Given the description of an element on the screen output the (x, y) to click on. 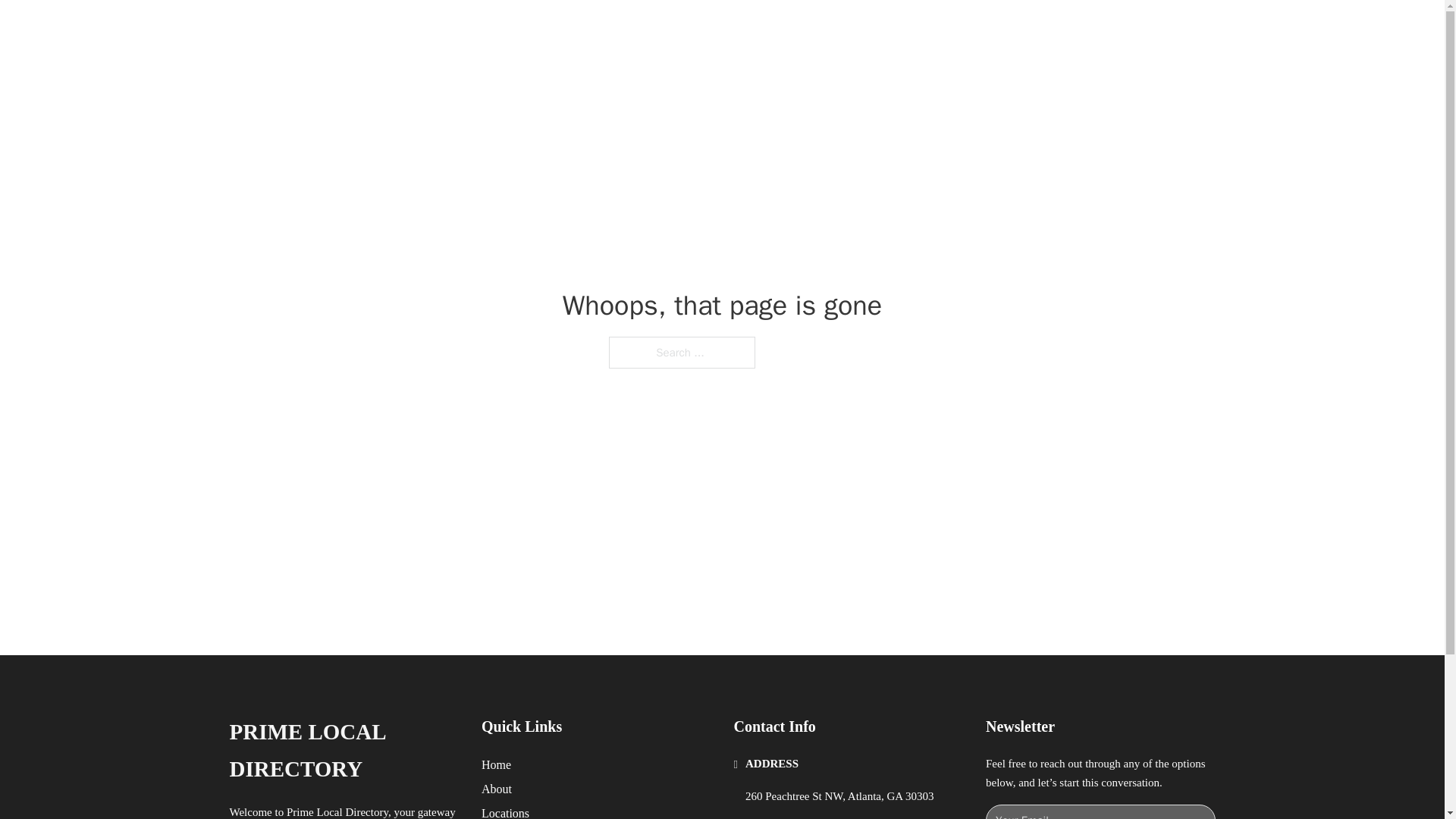
About (496, 788)
Locations (505, 811)
PRIME LOCAL DIRECTORY (435, 28)
HOME (919, 29)
LOCATIONS (990, 29)
PRIME LOCAL DIRECTORY (343, 750)
Home (496, 764)
